Given the description of an element on the screen output the (x, y) to click on. 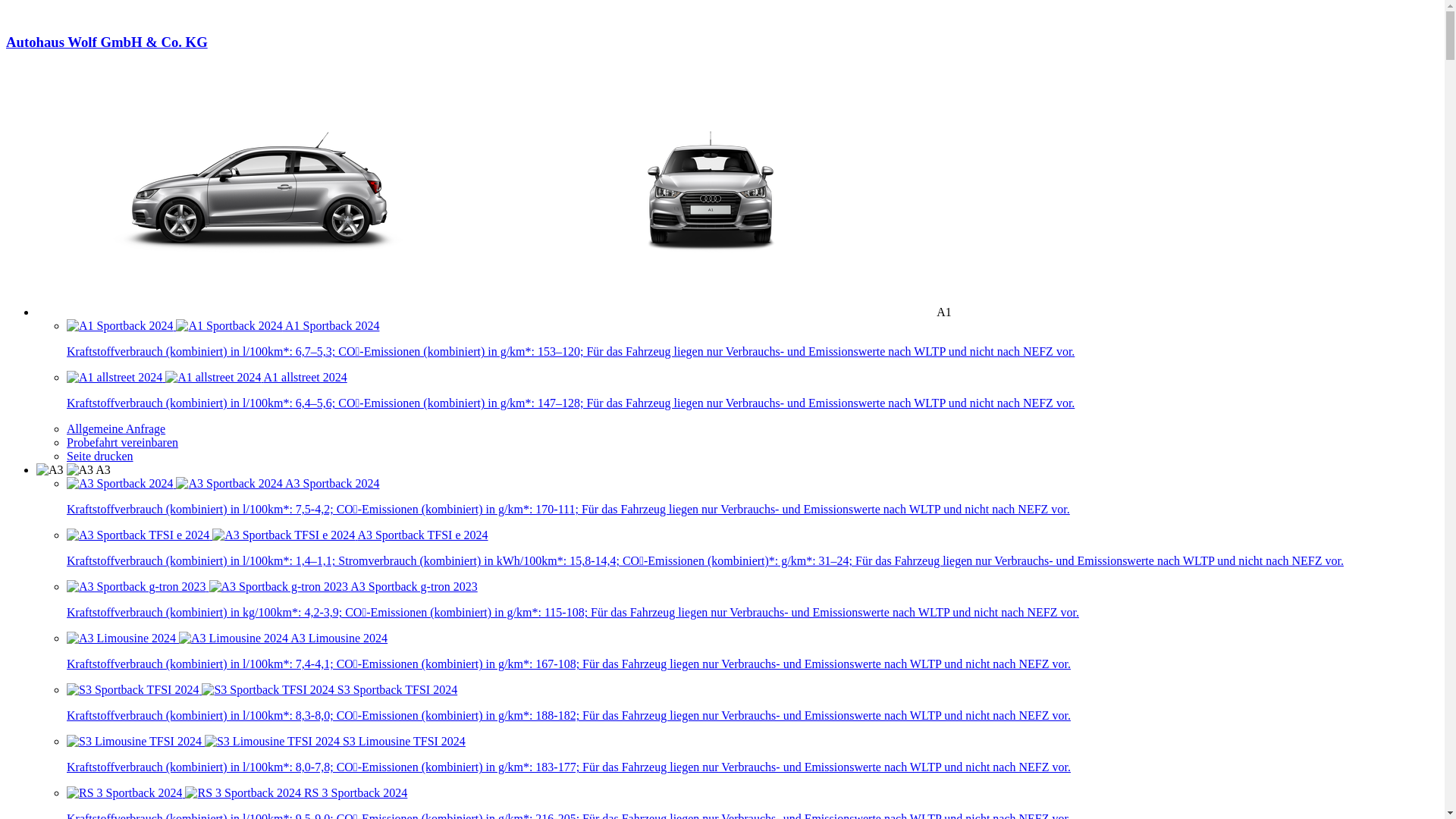
Probefahrt vereinbaren Element type: text (122, 442)
A1 Element type: text (493, 311)
Allgemeine Anfrage Element type: text (115, 428)
A3 Element type: text (73, 469)
Seite drucken Element type: text (99, 455)
Autohaus Wolf GmbH & Co. KG Element type: text (722, 56)
